Given the description of an element on the screen output the (x, y) to click on. 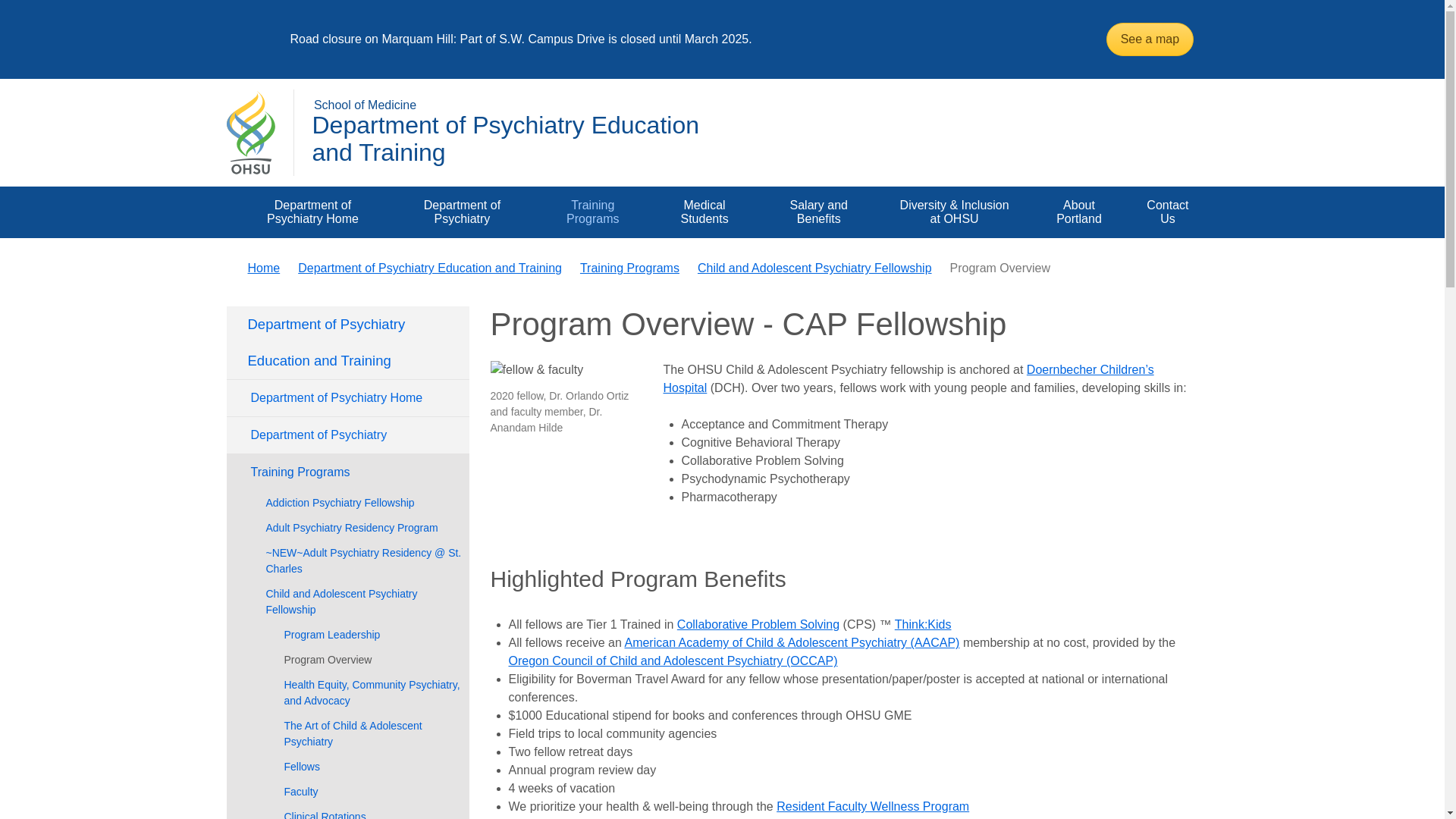
Salary and Benefits (818, 212)
See a map (1149, 39)
Training Programs (592, 212)
Contact Us (1166, 212)
School of Medicine (365, 104)
Department of Psychiatry Home (311, 212)
Training Programs (592, 212)
on (240, 191)
Medical Students (703, 212)
Home (263, 267)
